Given the description of an element on the screen output the (x, y) to click on. 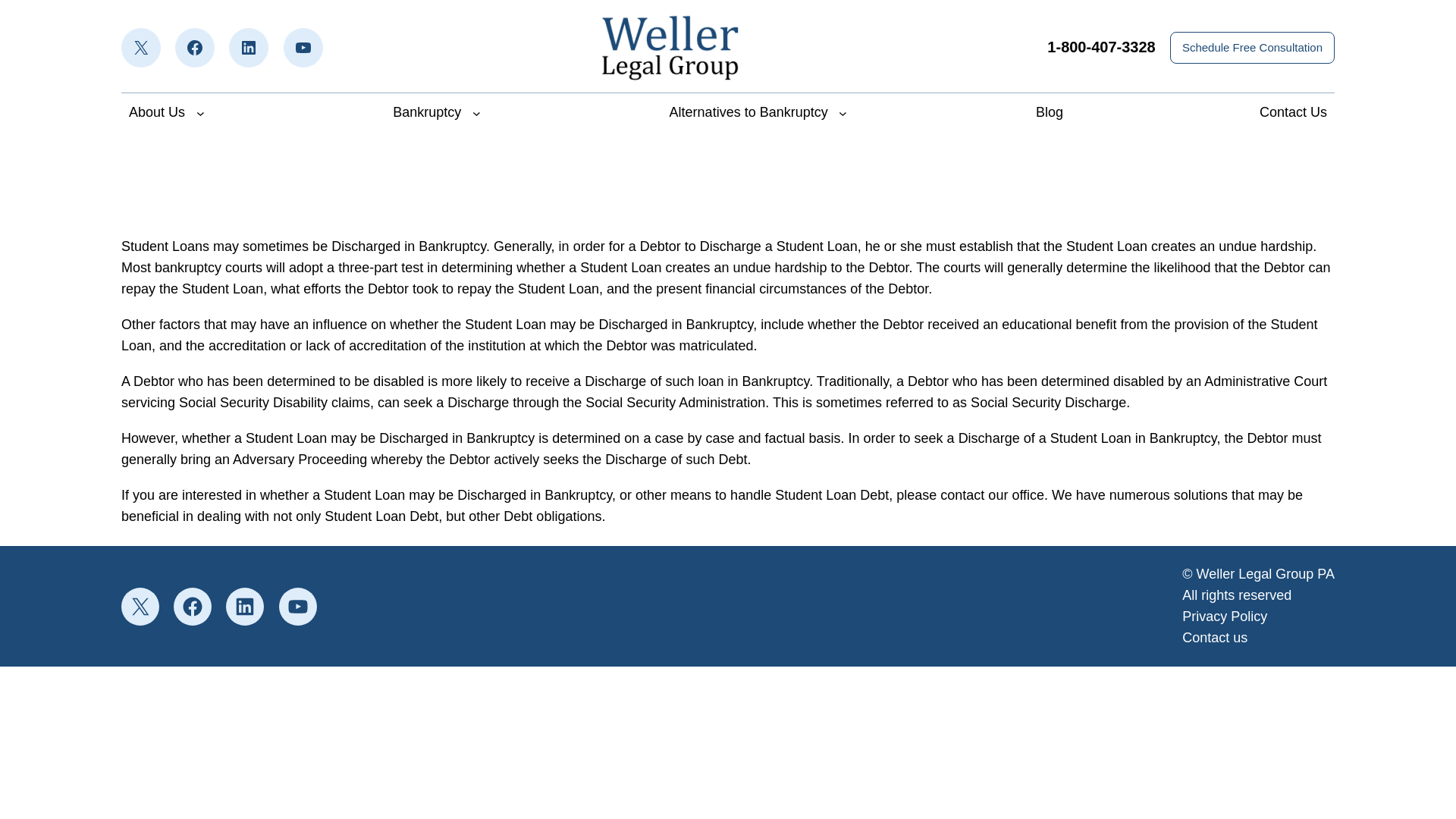
X (140, 47)
Privacy Policy (1224, 616)
Facebook (192, 606)
LinkedIn (244, 606)
X (139, 606)
Alternatives to Bankruptcy (748, 112)
About Us (156, 112)
Bankruptcy (426, 112)
YouTube (303, 47)
Facebook (194, 47)
